Given the description of an element on the screen output the (x, y) to click on. 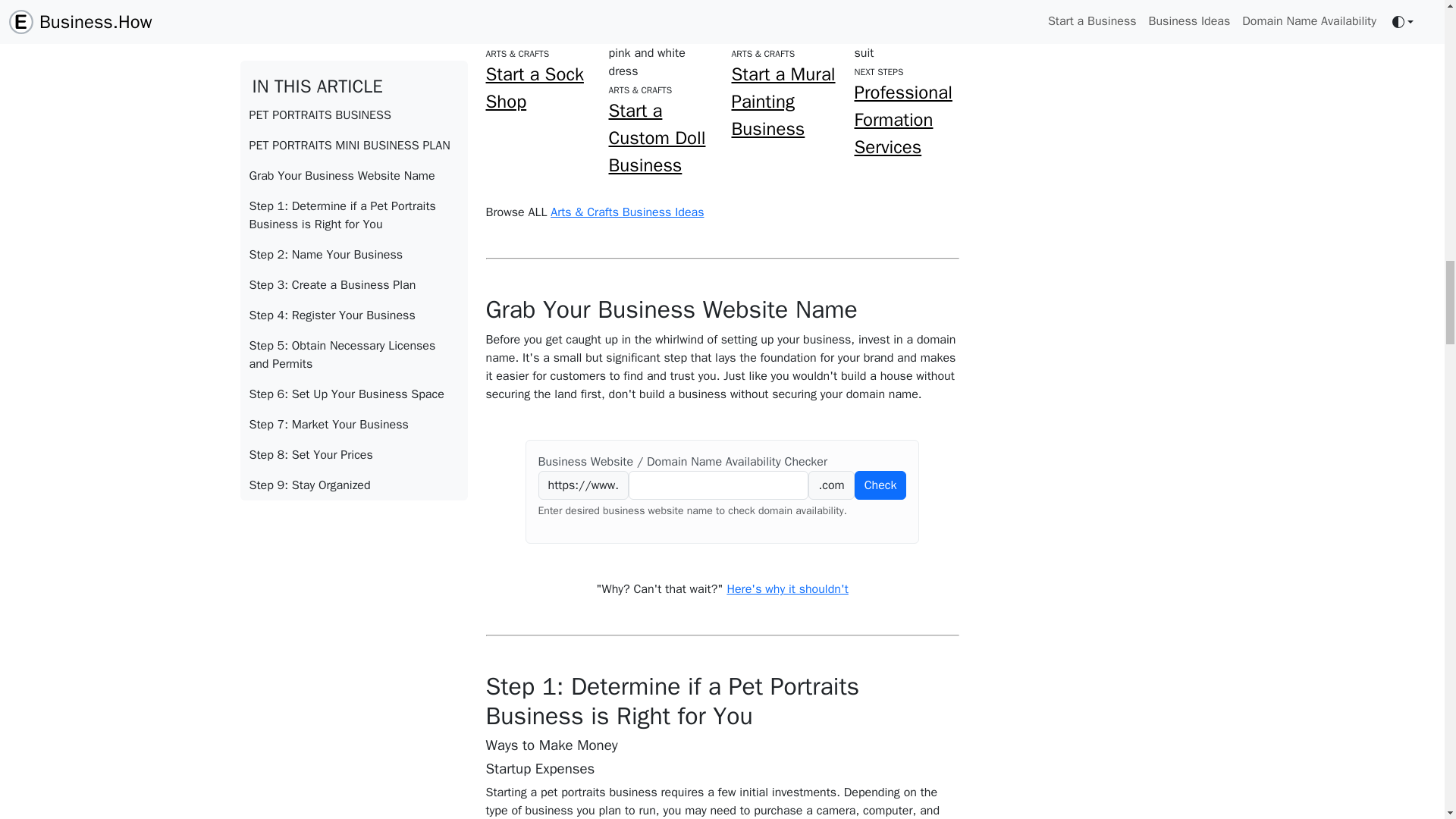
Check (880, 484)
Start a Mural Painting Business (782, 101)
Start a Custom Doll Business (656, 137)
Professional Formation Services (902, 119)
Start a Sock Shop (533, 88)
